Given the description of an element on the screen output the (x, y) to click on. 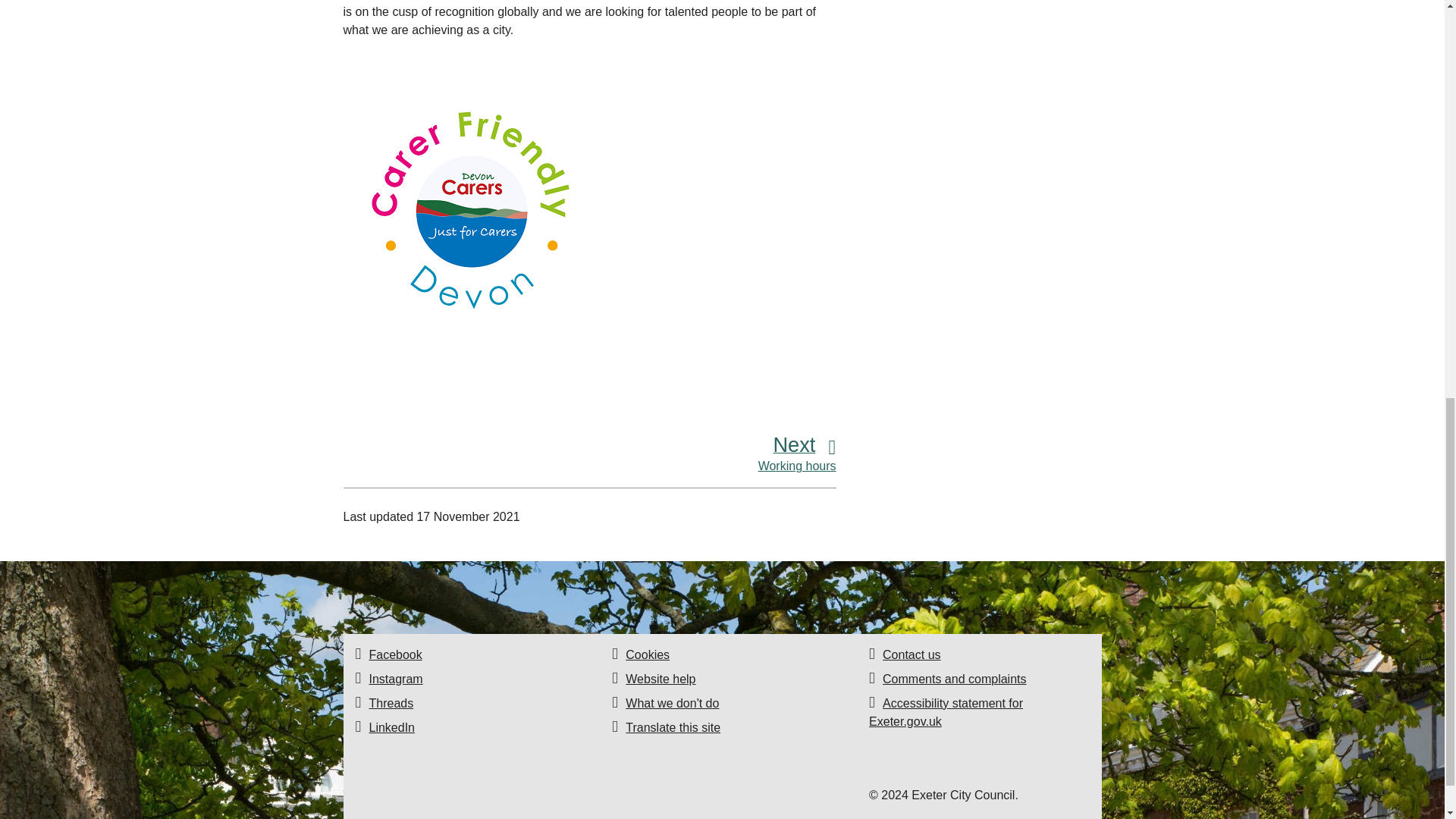
Accessibility statement for Exeter.gov.uk (946, 712)
Cookies (647, 654)
Contact us (911, 654)
Instagram (395, 678)
What we don't do (672, 703)
Facebook (395, 654)
Website help (660, 678)
Translate this site (673, 727)
Comments and complaints (954, 678)
LinkedIn (391, 727)
Threads (390, 703)
